Given the description of an element on the screen output the (x, y) to click on. 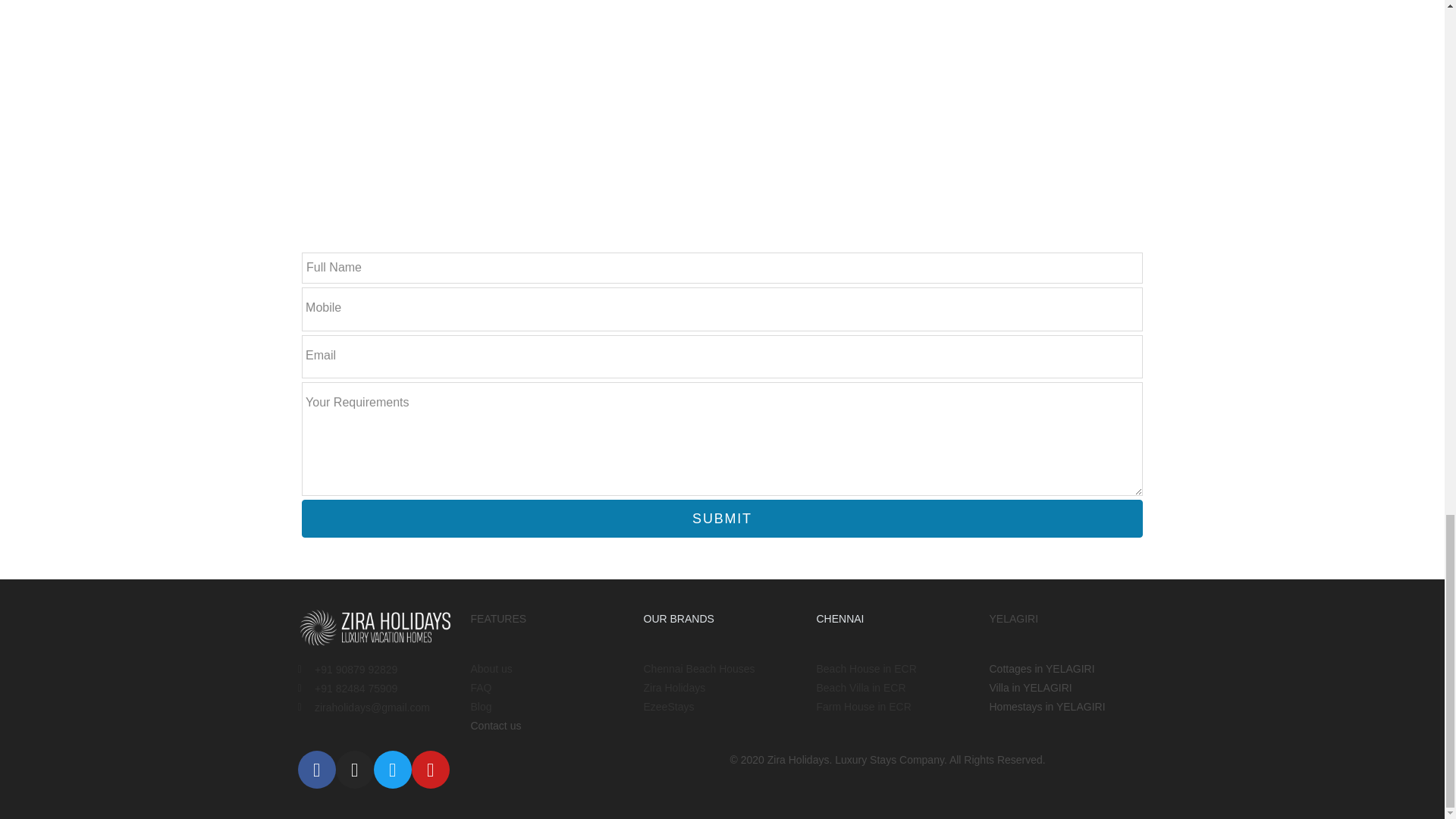
About us (548, 669)
Blog (548, 706)
OUR BRANDS (678, 618)
SUBMIT (721, 518)
FAQ (548, 687)
